Given the description of an element on the screen output the (x, y) to click on. 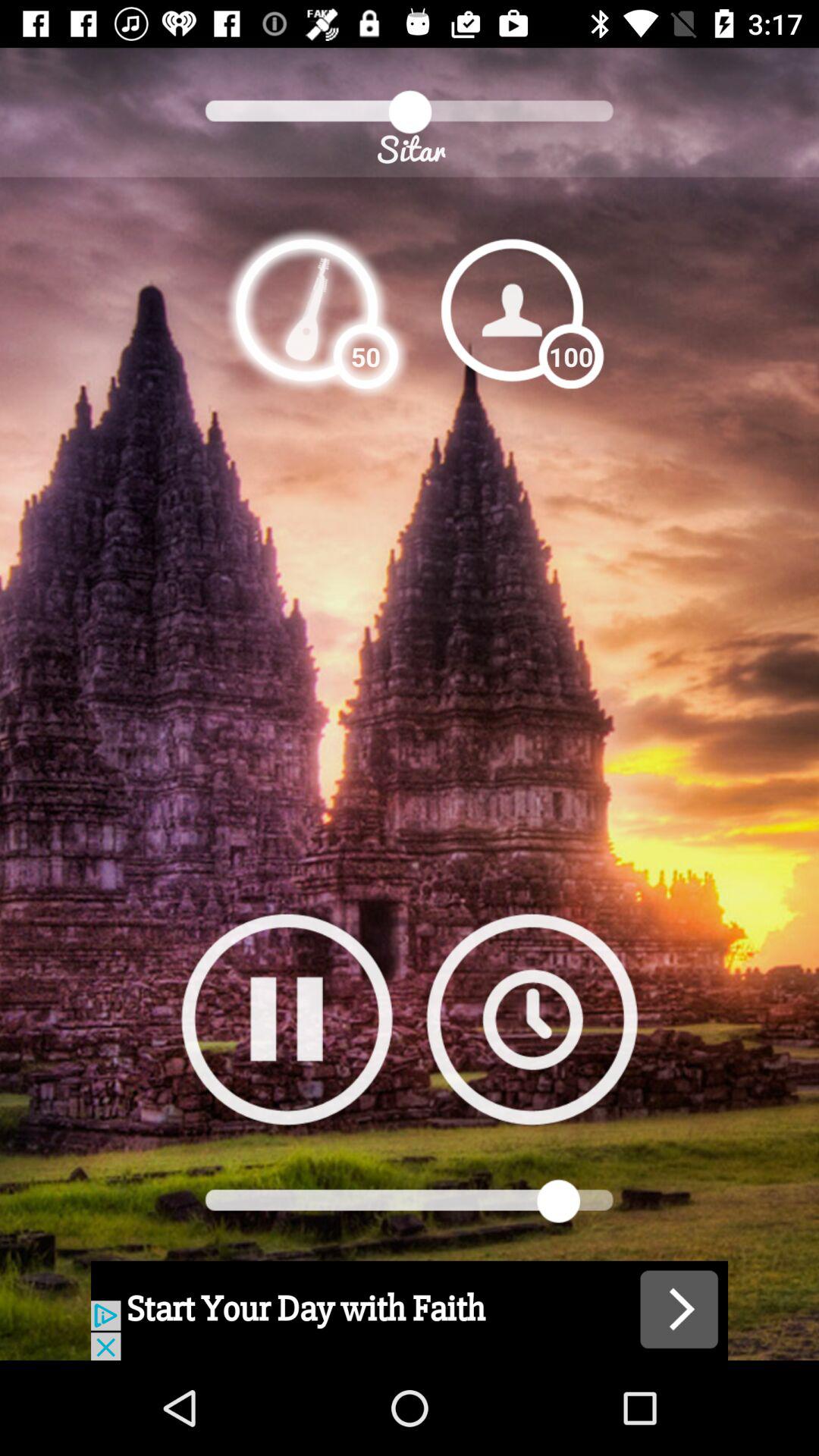
change tempo (306, 309)
